Given the description of an element on the screen output the (x, y) to click on. 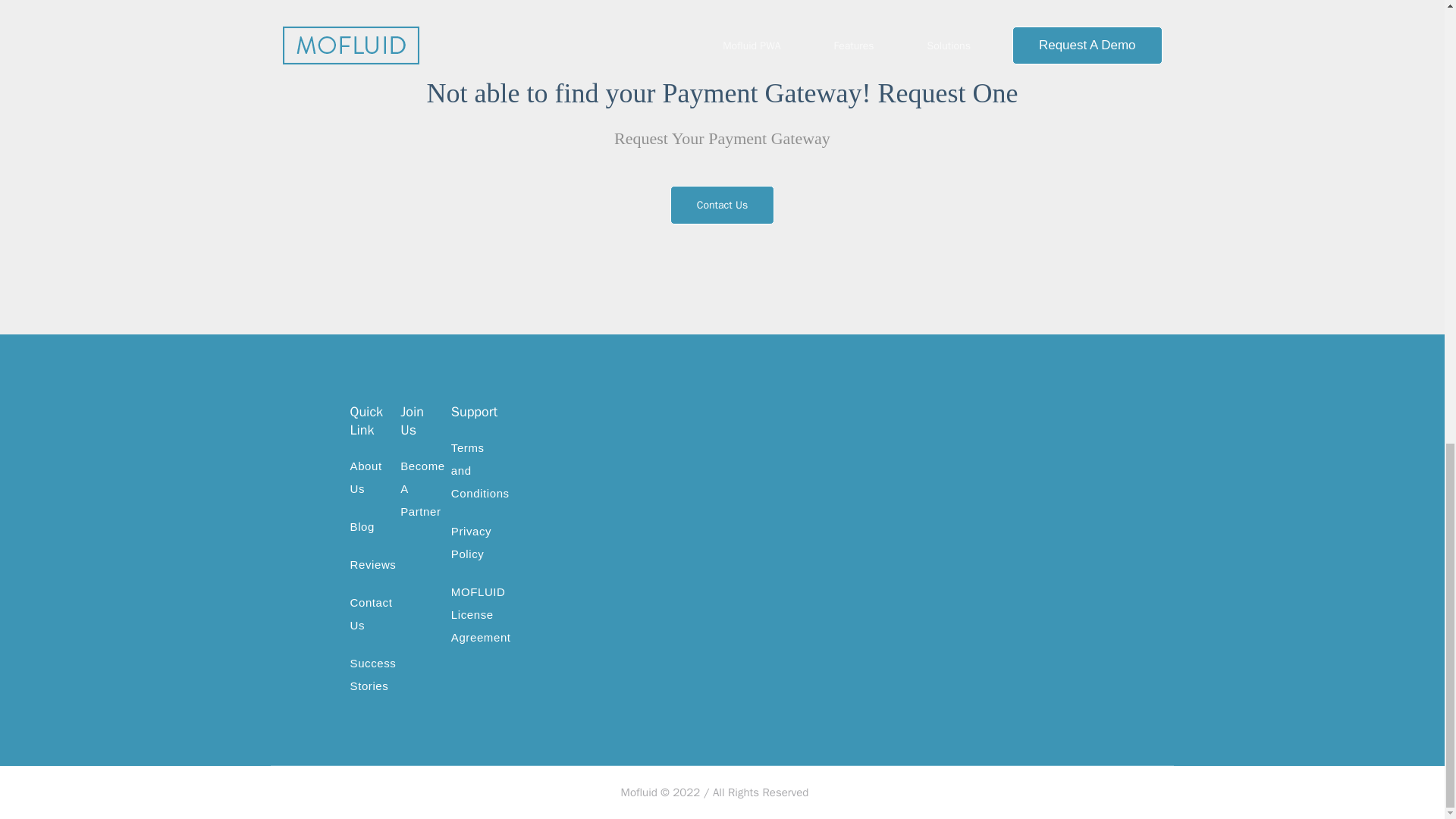
Reviews (373, 563)
Contact Us (371, 613)
MOFLUID License Agreement (481, 614)
Blog (362, 526)
Privacy Policy (471, 542)
Terms and Conditions (480, 470)
Contact Us (721, 204)
Success Stories (373, 674)
About Us (365, 477)
